Given the description of an element on the screen output the (x, y) to click on. 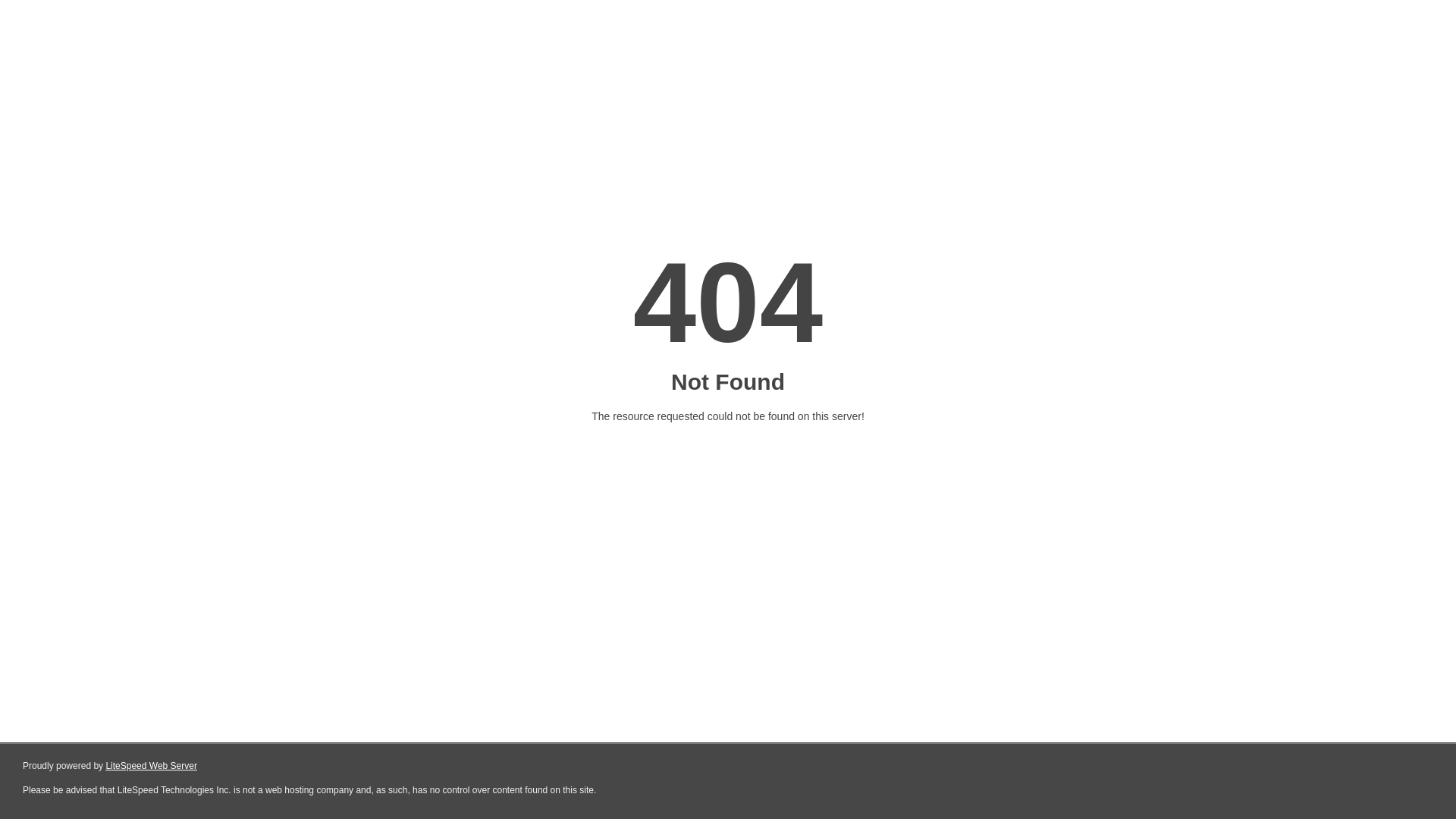
LiteSpeed Web Server Element type: text (151, 765)
